Given the description of an element on the screen output the (x, y) to click on. 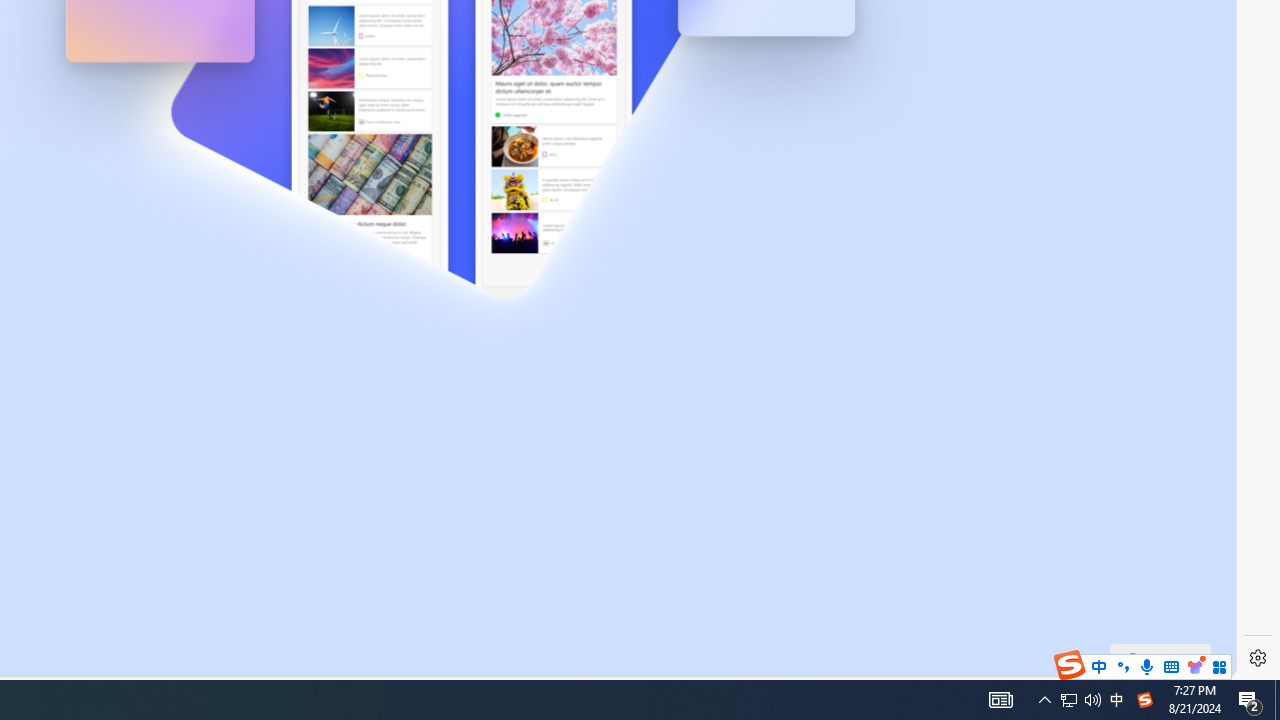
Feedback (1159, 659)
